Given the description of an element on the screen output the (x, y) to click on. 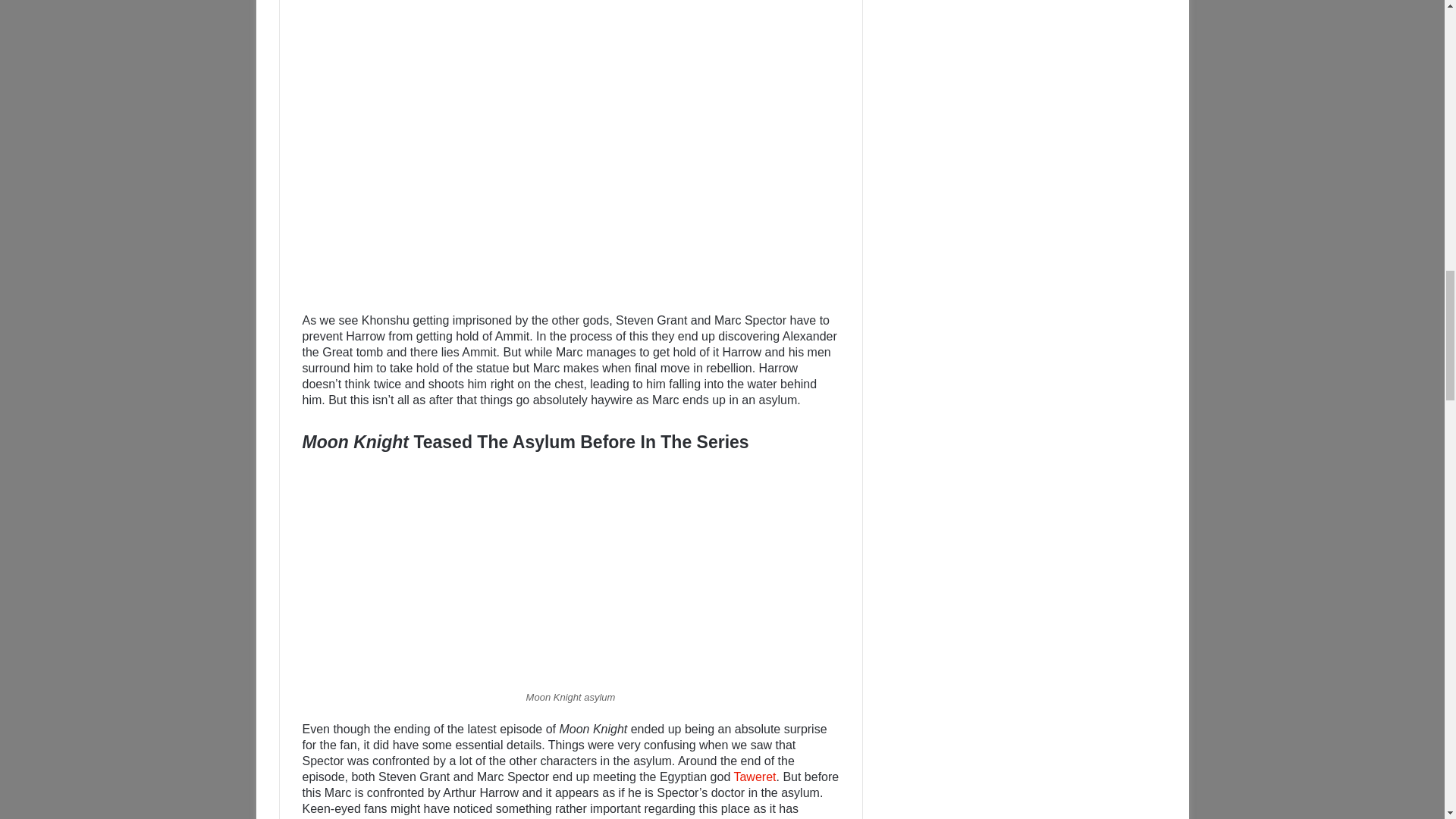
Taweret (754, 776)
